Given the description of an element on the screen output the (x, y) to click on. 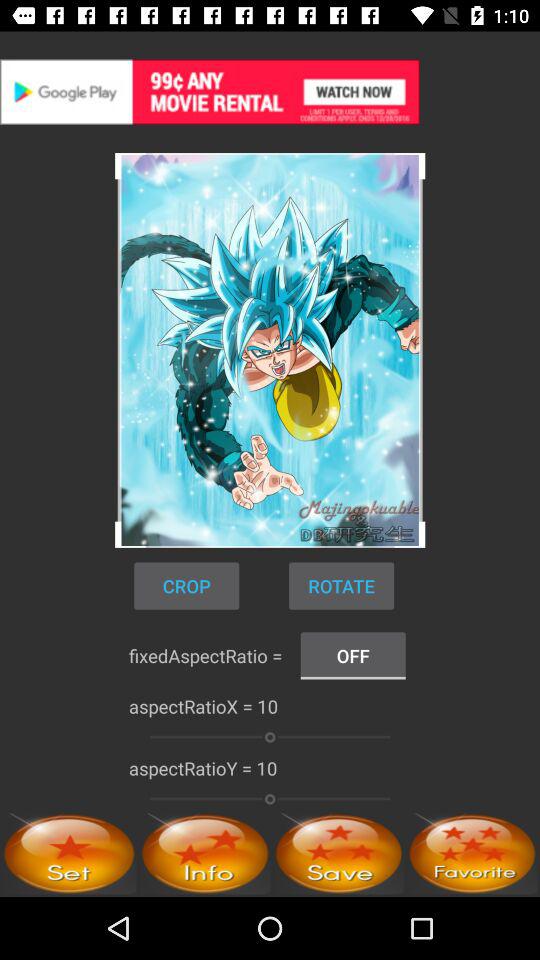
open favorite (472, 853)
